Given the description of an element on the screen output the (x, y) to click on. 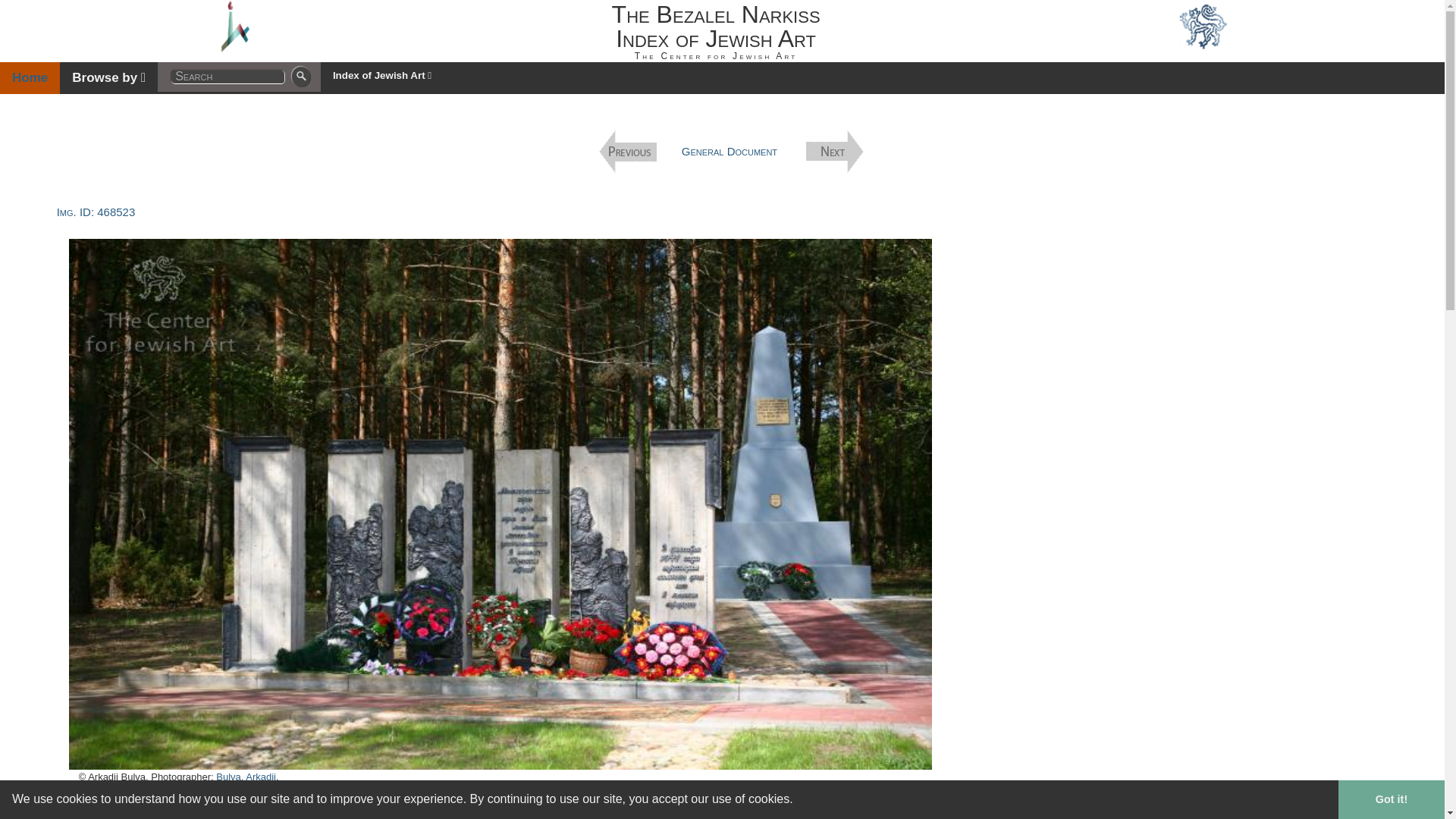
Img. ID: 468523 (95, 211)
Bulva, Arkadii (245, 776)
Home (29, 78)
Browse by (108, 78)
General Document (729, 151)
Index of Jewish Art (382, 75)
